Given the description of an element on the screen output the (x, y) to click on. 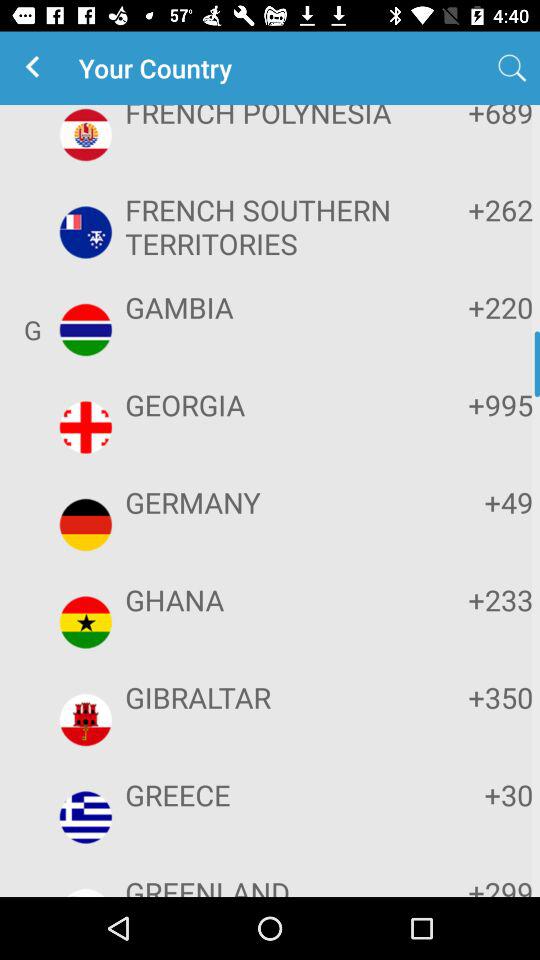
open the app to the left of the your country item (36, 68)
